Given the description of an element on the screen output the (x, y) to click on. 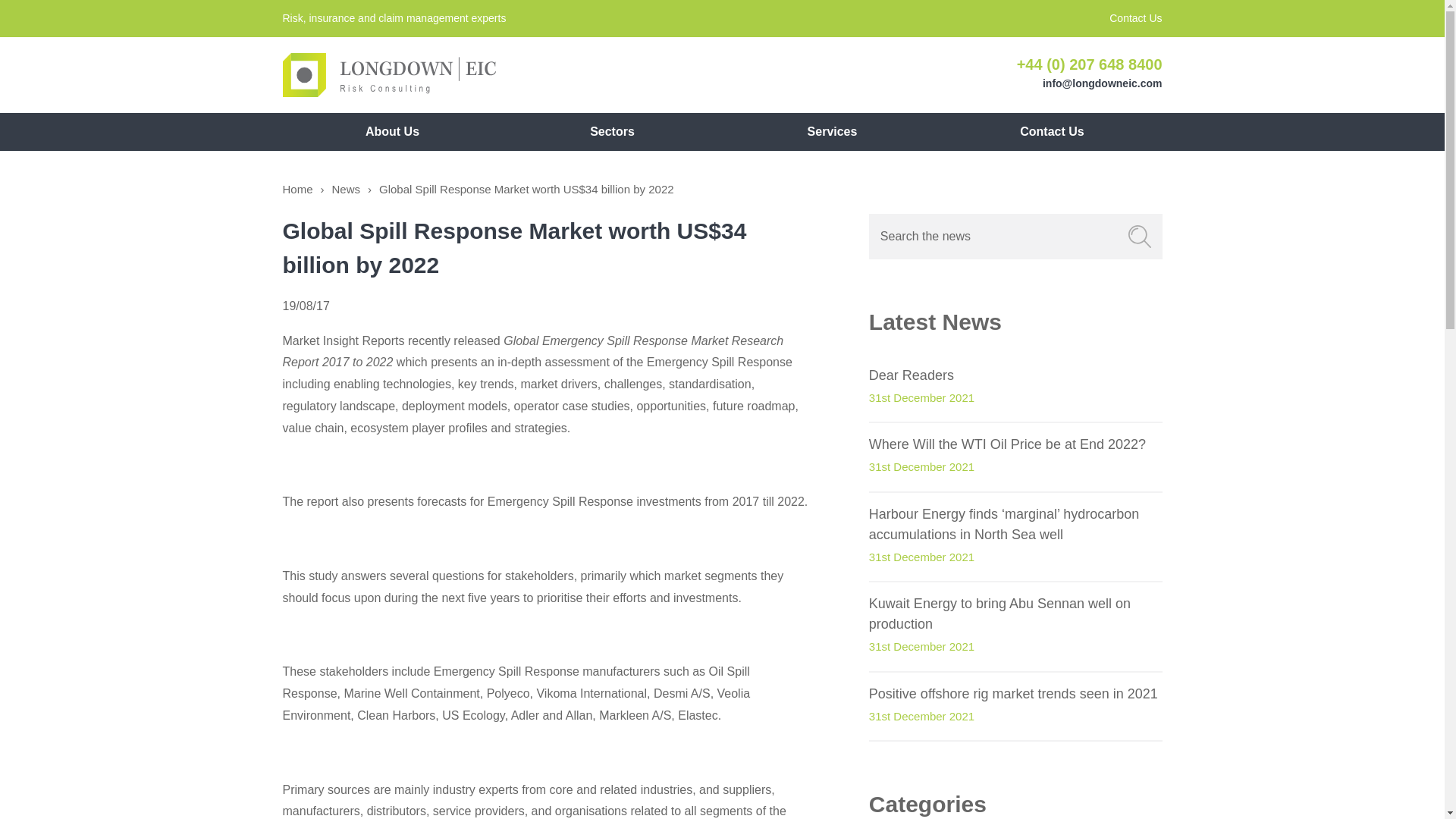
Sectors (612, 131)
Longdown EIC Home Page (388, 75)
About Us (392, 131)
Positive offshore rig market trends seen in 2021 (1015, 693)
Where Will the WTI Oil Price be at End 2022? (1015, 444)
News (346, 189)
Contact Us (1051, 131)
Kuwait Energy to bring Abu Sennan well on production (1015, 613)
Home (297, 189)
Services (832, 131)
